Given the description of an element on the screen output the (x, y) to click on. 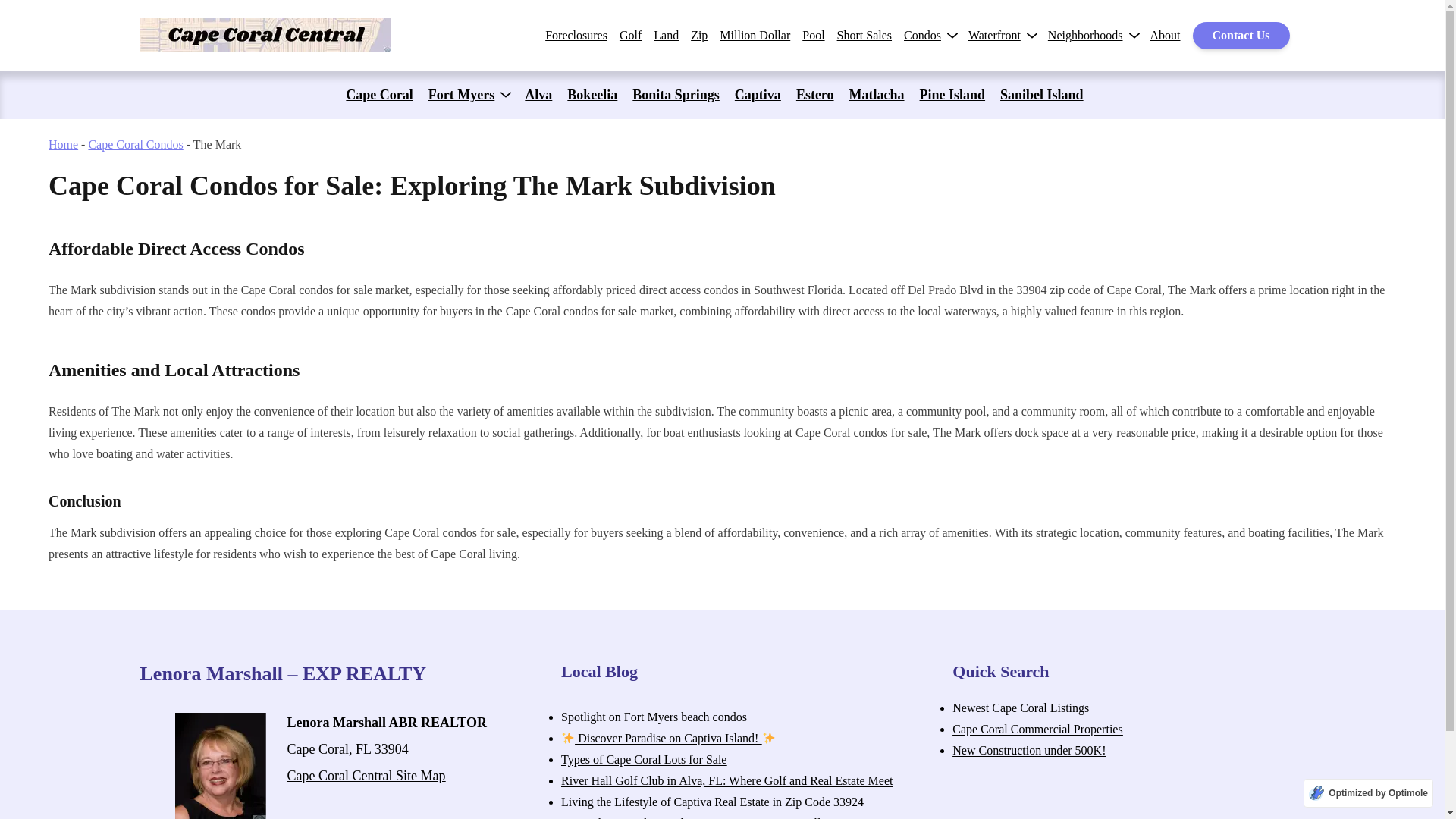
Matlacha (876, 94)
Neighborhoods (1085, 34)
Land (665, 34)
Fort Myers (461, 94)
Waterfront (994, 34)
Foreclosures (575, 34)
Home (63, 144)
Waterfront (994, 34)
Short Sales (864, 34)
Cape Coral Central Site Map (365, 775)
Million Dollar (754, 34)
Alva (537, 94)
Condos (922, 34)
Pool (813, 34)
Sanibel Island (1041, 94)
